Given the description of an element on the screen output the (x, y) to click on. 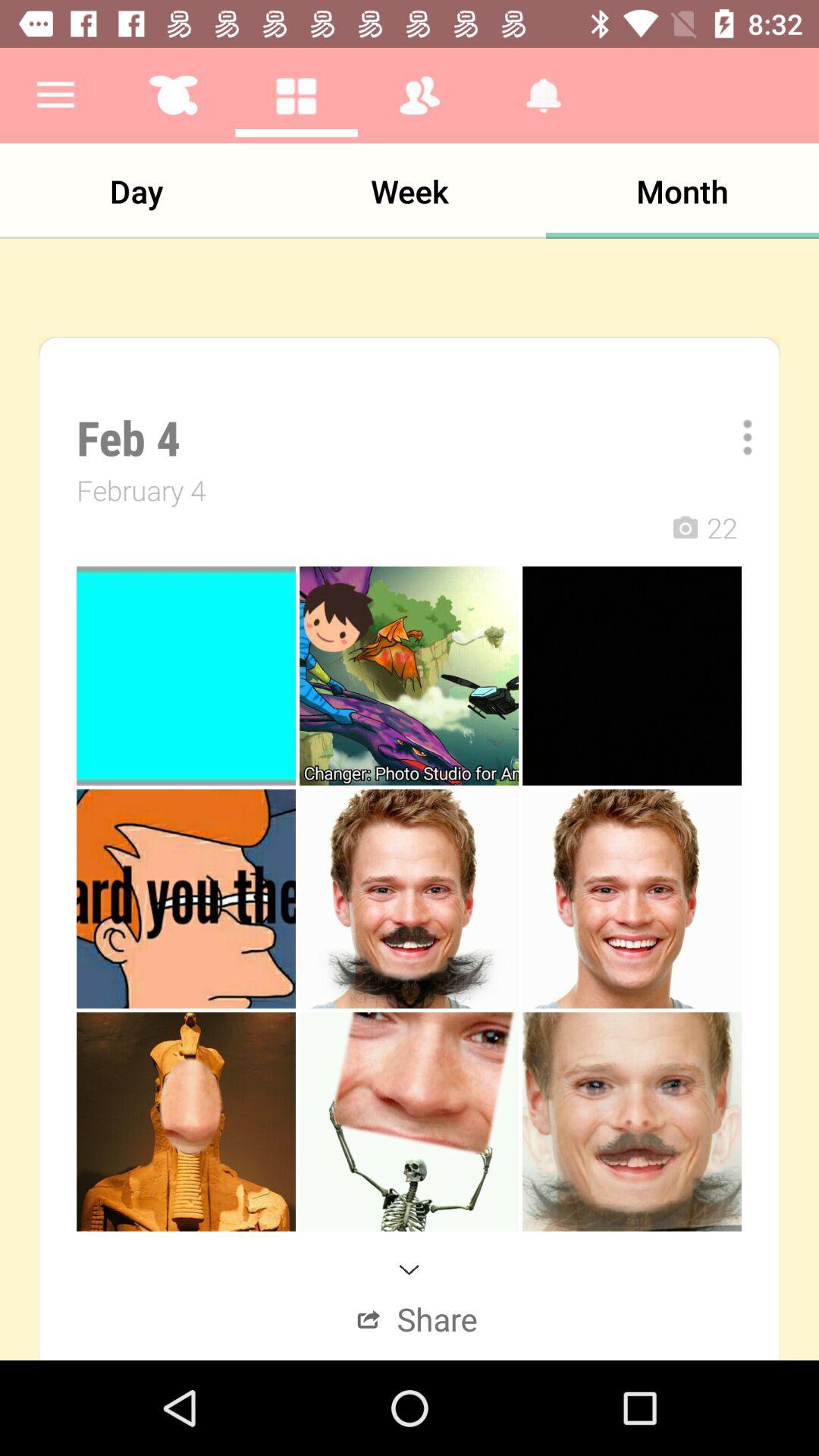
tap the app to the right of the day icon (409, 190)
